Given the description of an element on the screen output the (x, y) to click on. 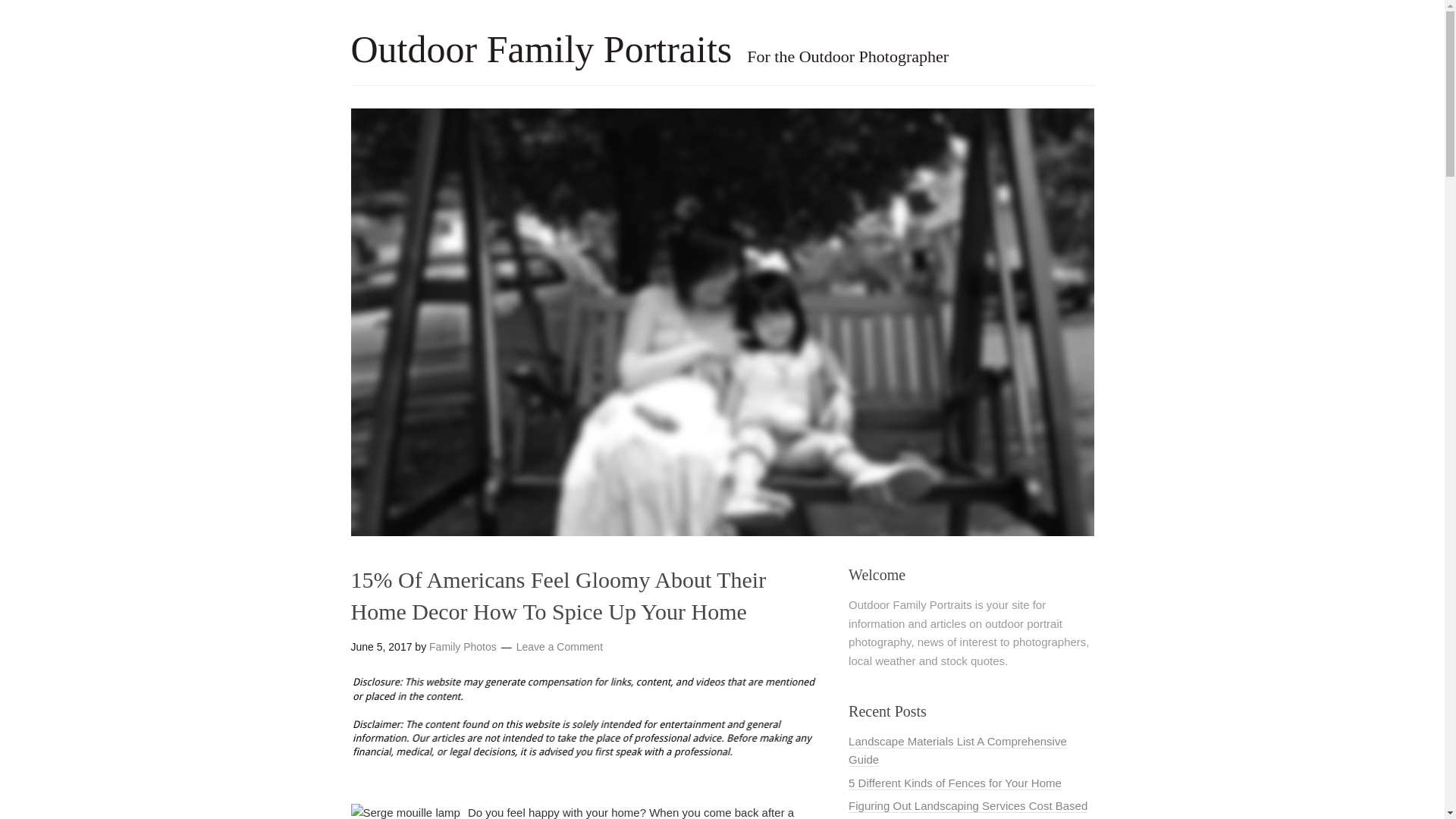
Outdoor Family Portraits (541, 48)
Monday, June 5, 2017, 7:44 pm (381, 646)
Landscape Materials List A Comprehensive Guide (957, 750)
5 Different Kinds of Fences for Your Home (954, 783)
Outdoor Family Portraits (541, 48)
Family Photos (462, 646)
Posts by Family Photos (462, 646)
Leave a Comment (559, 646)
